Given the description of an element on the screen output the (x, y) to click on. 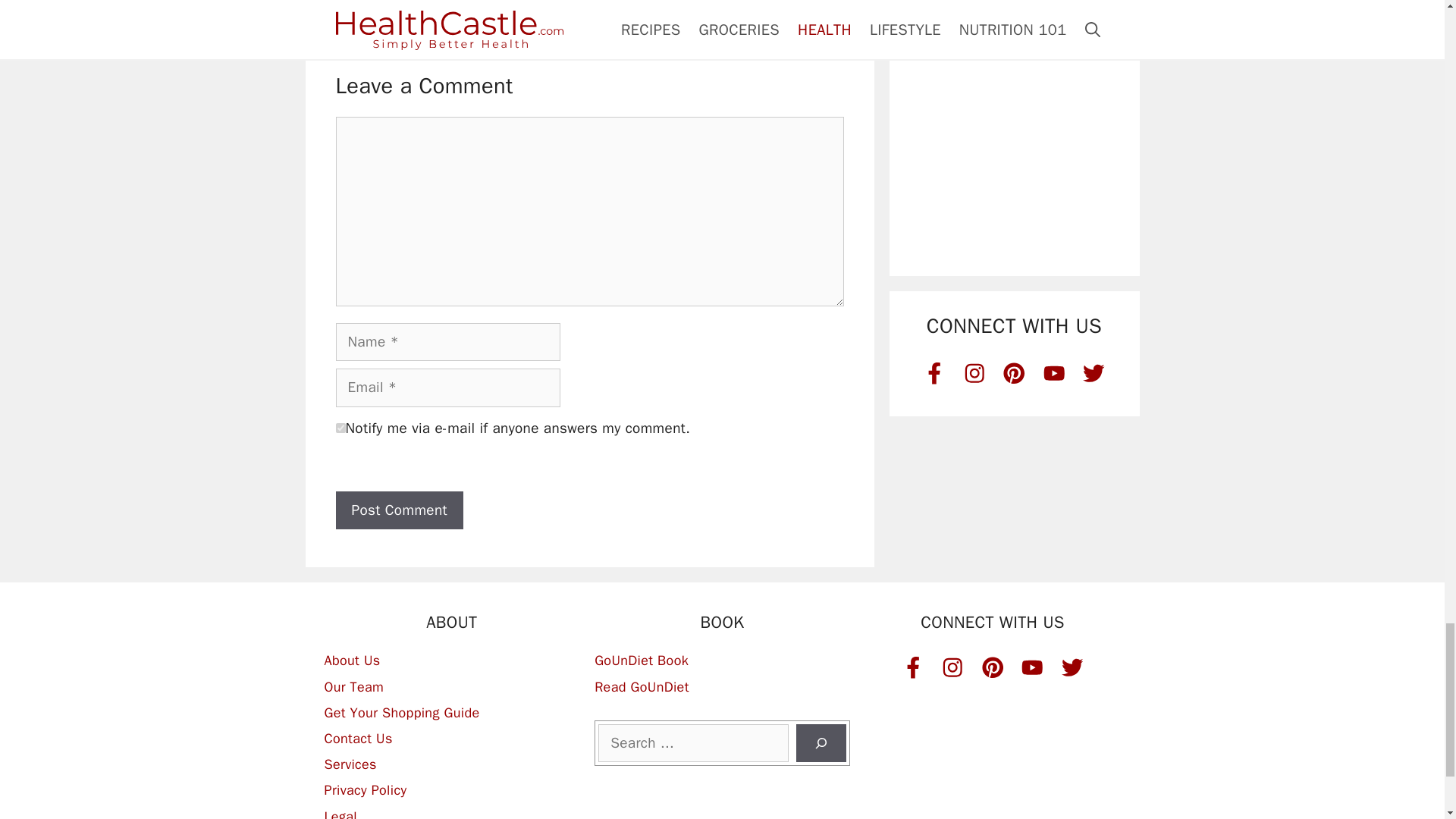
Post Comment (398, 510)
Monthly Color Challenge (1014, 45)
GoUndiet Free Chapter (1014, 187)
on (339, 428)
Post Comment (398, 510)
